Given the description of an element on the screen output the (x, y) to click on. 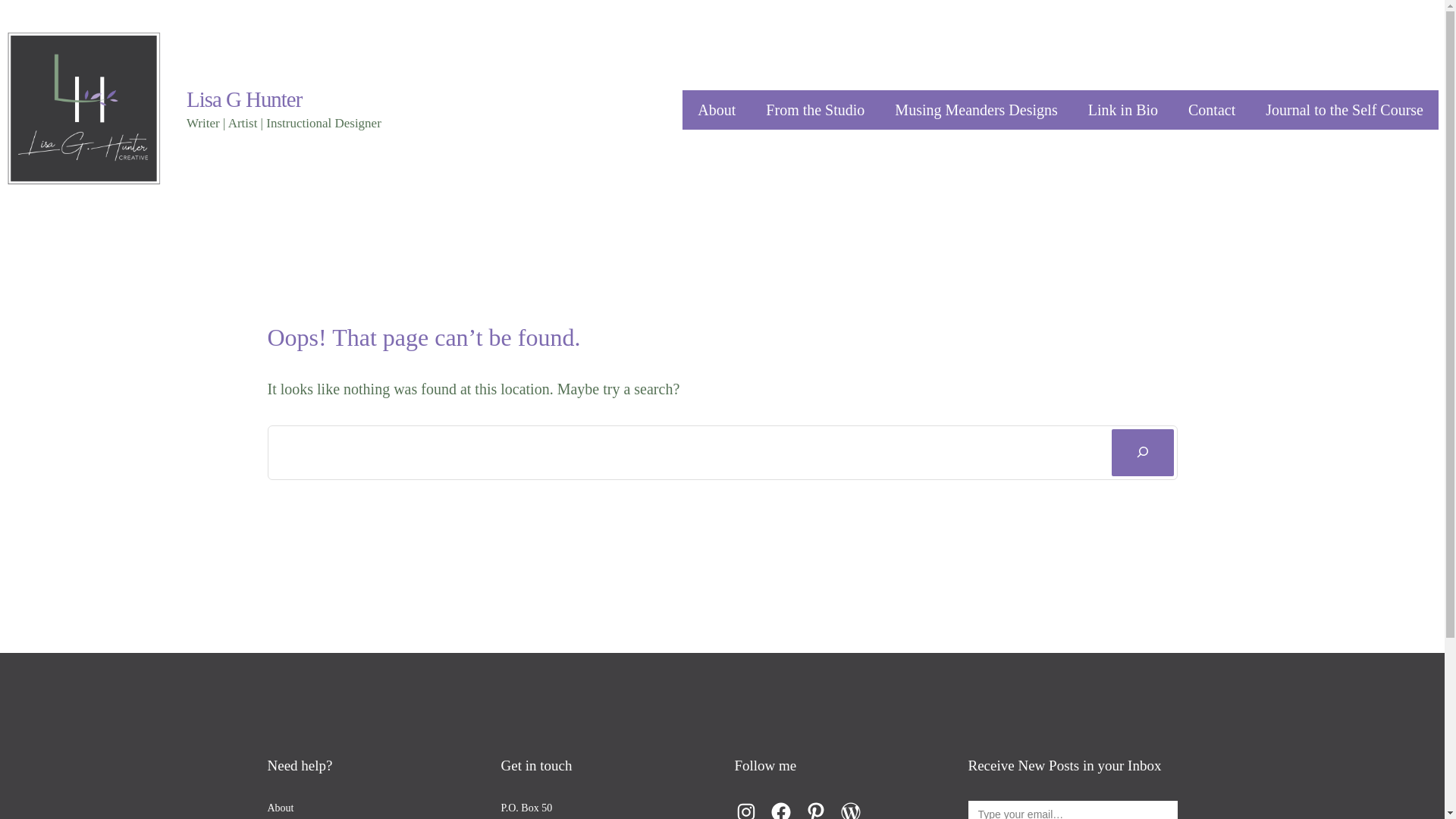
Link in Bio Element type: text (1123, 109)
About Element type: text (716, 109)
From the Studio Element type: text (814, 109)
Musing Meanders Designs Element type: text (975, 109)
Journal to the Self Course Element type: text (1344, 109)
Lisa G Hunter Element type: text (243, 99)
Contact Element type: text (1211, 109)
About Element type: text (279, 807)
